Given the description of an element on the screen output the (x, y) to click on. 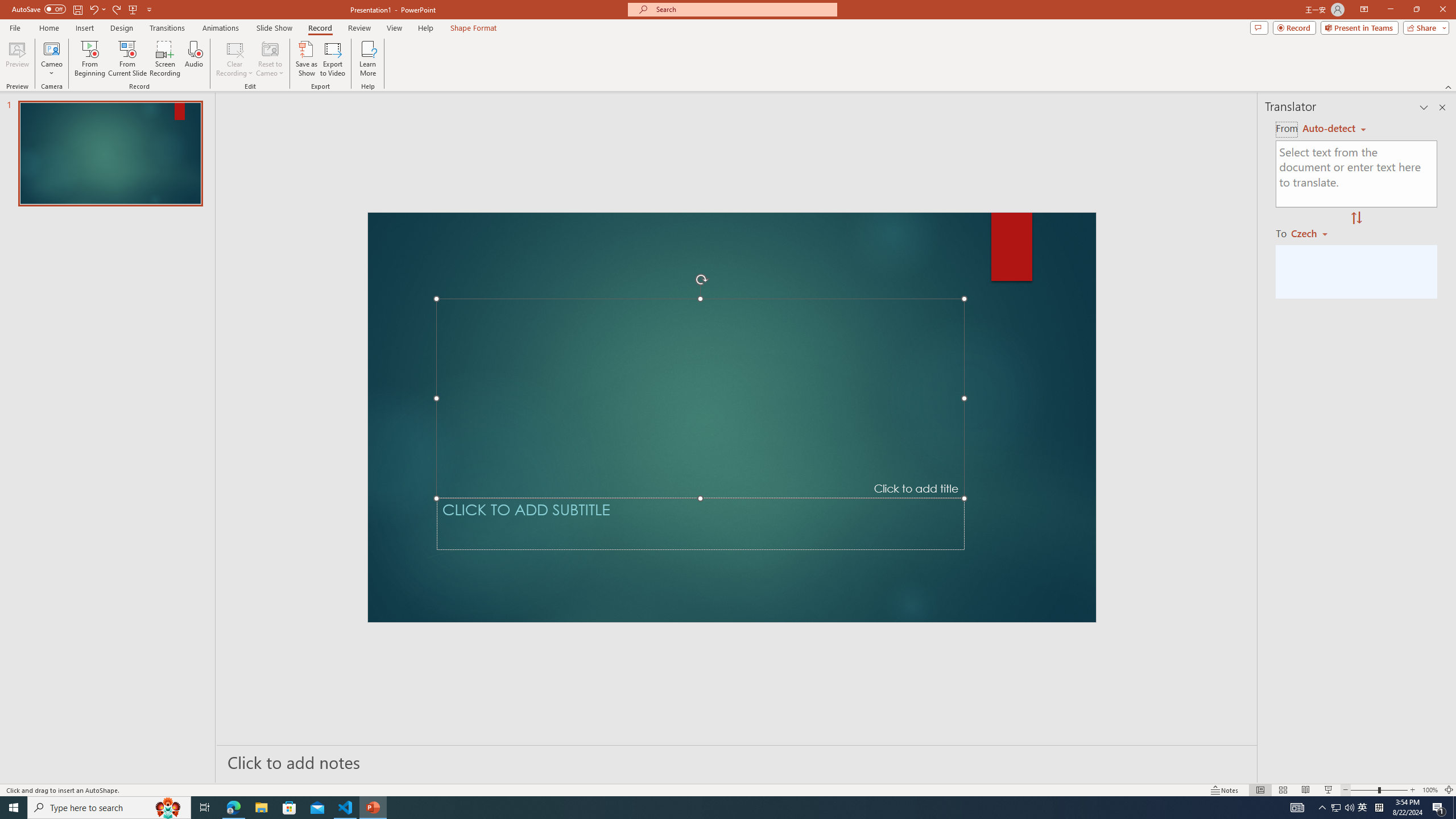
Swap "from" and "to" languages. (1355, 218)
Czech (1313, 232)
Restore Down (1416, 9)
Shape Format (473, 28)
Close pane (1441, 107)
Close (1442, 9)
More Options (51, 68)
AutoSave (38, 9)
Slide Notes (737, 761)
Normal (1260, 790)
Insert (83, 28)
